Given the description of an element on the screen output the (x, y) to click on. 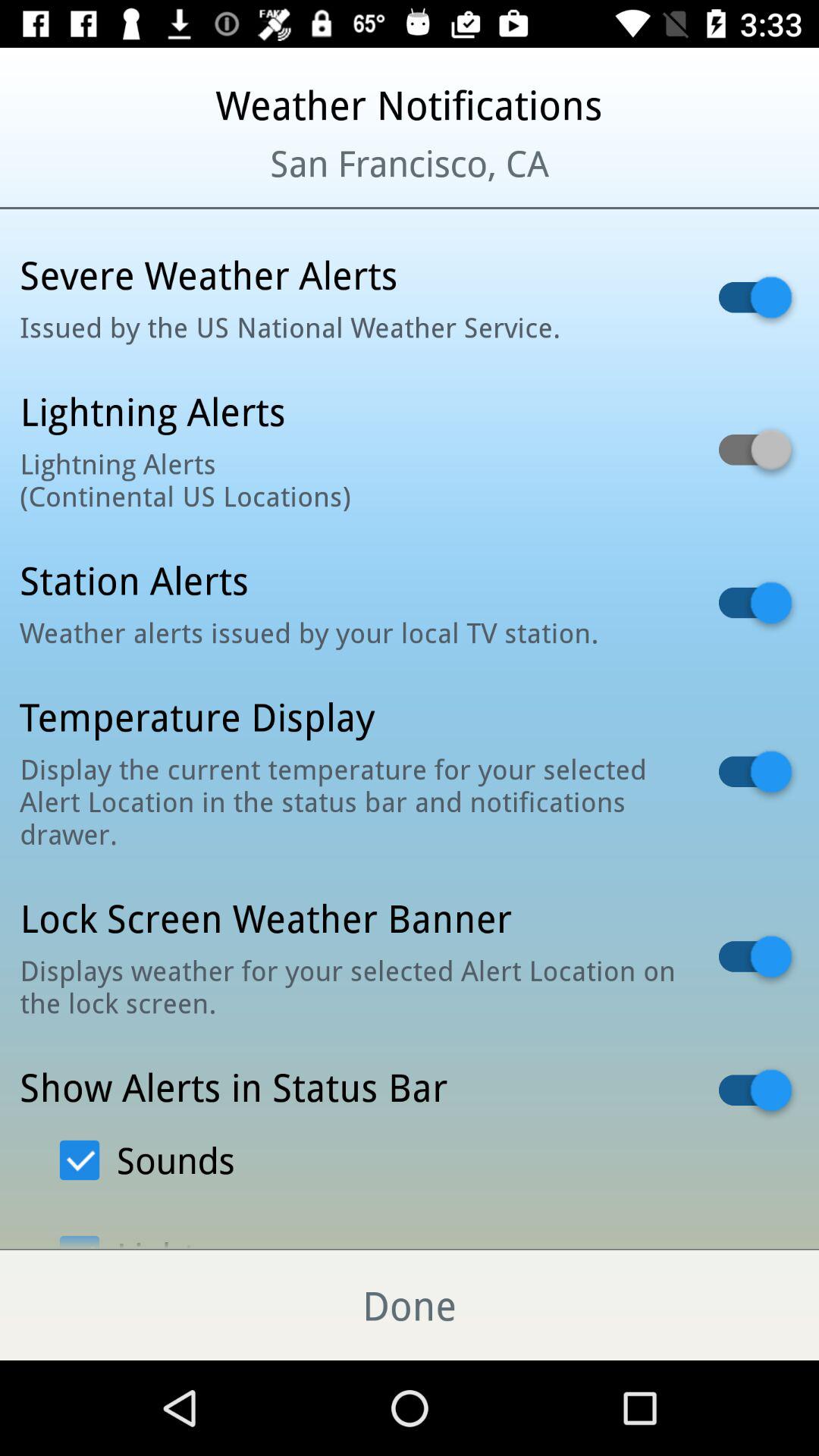
turn off item below lock screen weather icon (349, 986)
